Given the description of an element on the screen output the (x, y) to click on. 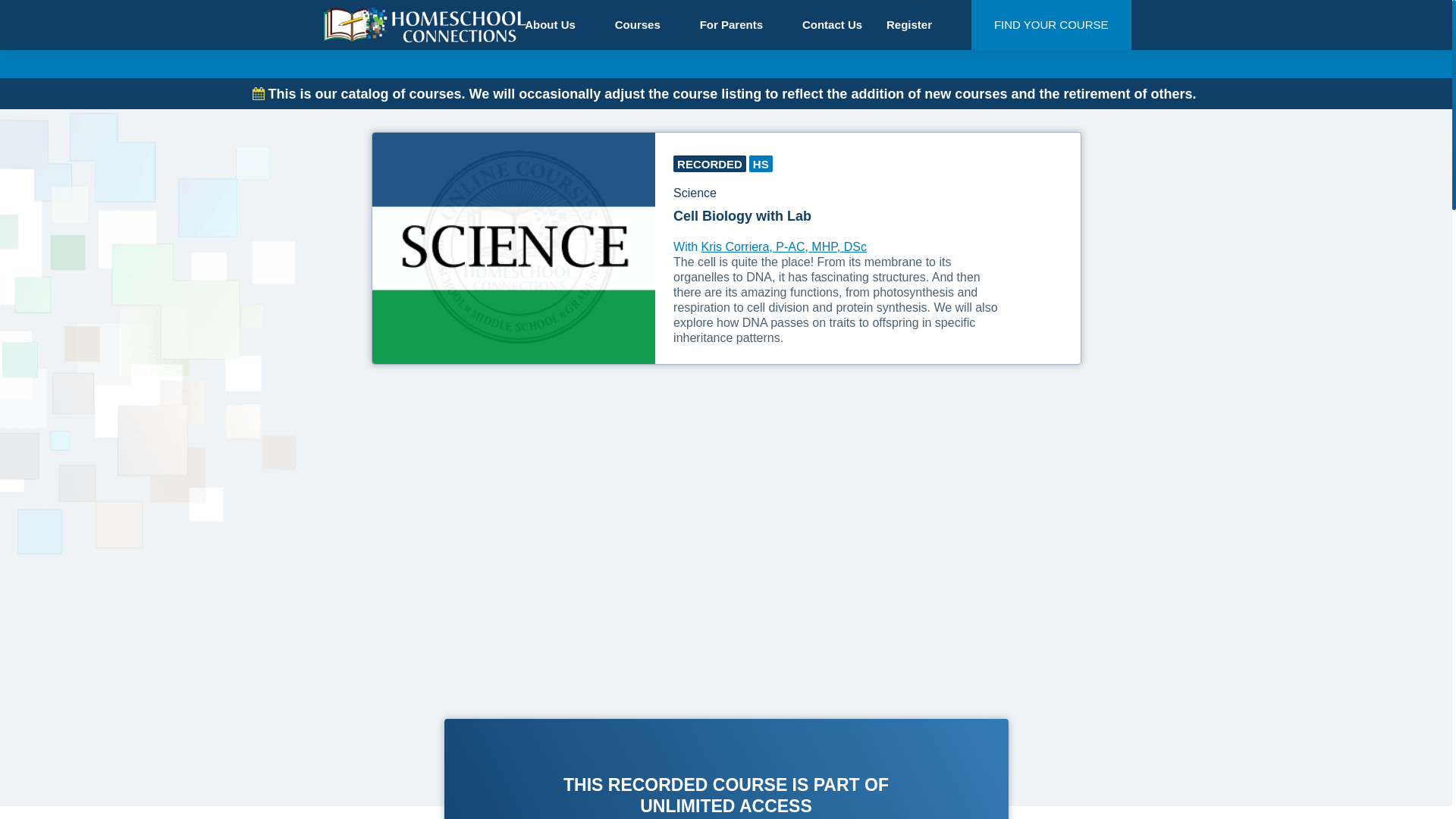
About Us (557, 24)
For Parents (738, 24)
Courses (644, 24)
Contact Us (831, 24)
Register (916, 24)
FIND YOUR COURSE (1051, 24)
